Given the description of an element on the screen output the (x, y) to click on. 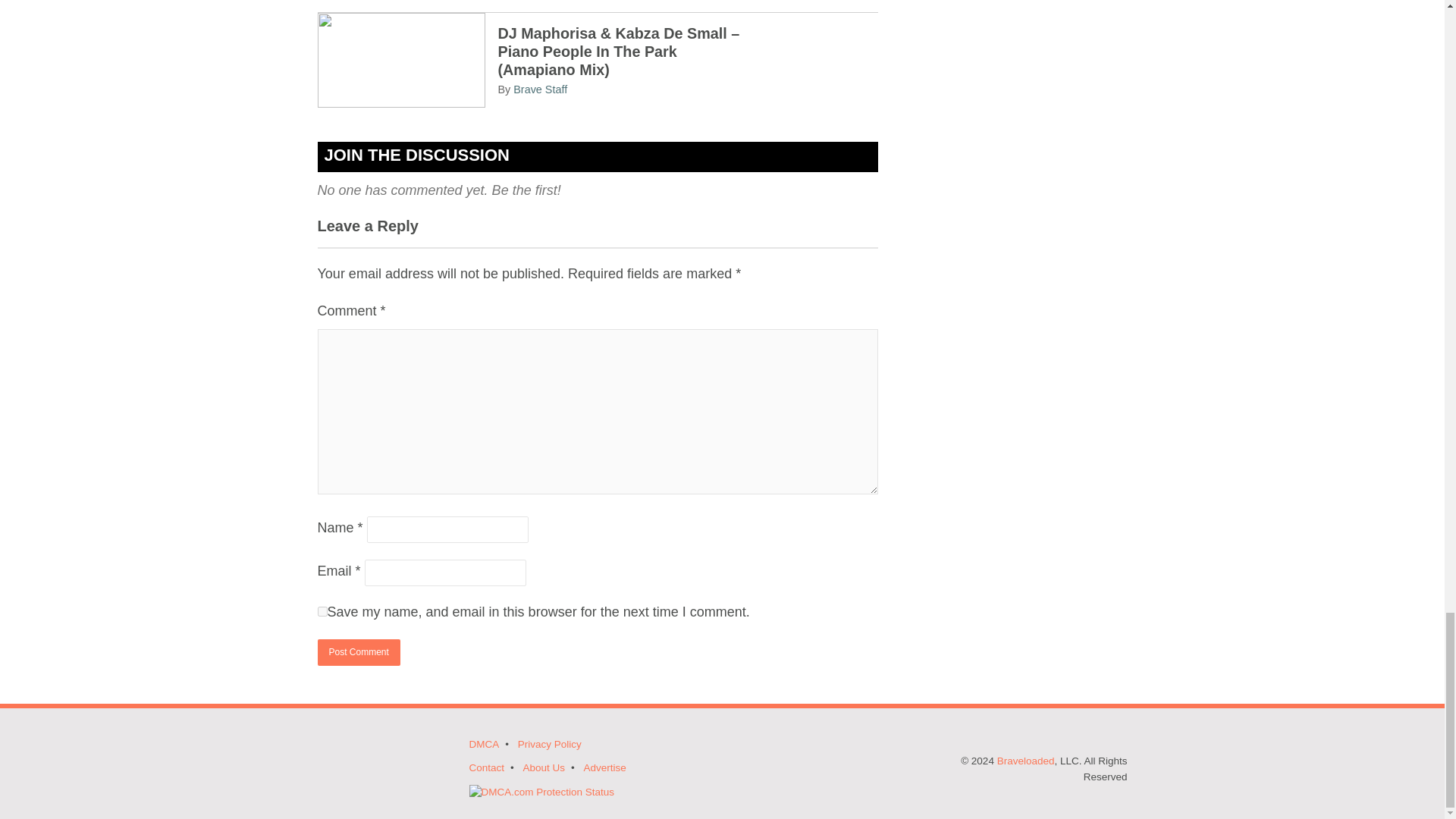
Posts by Brave Staff (540, 89)
yes (321, 611)
Post Comment (357, 652)
DMCA.com Protection Status (541, 791)
